Given the description of an element on the screen output the (x, y) to click on. 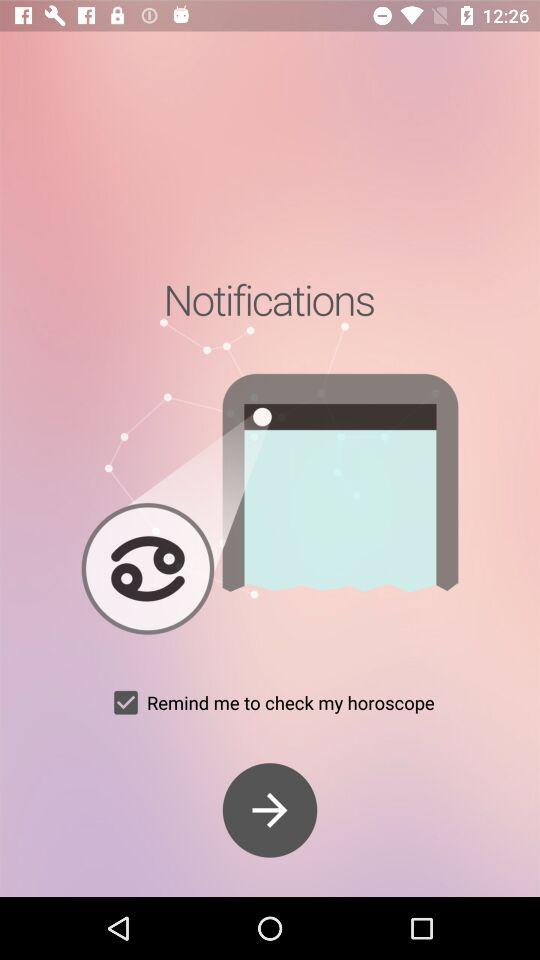
go to next (269, 810)
